Given the description of an element on the screen output the (x, y) to click on. 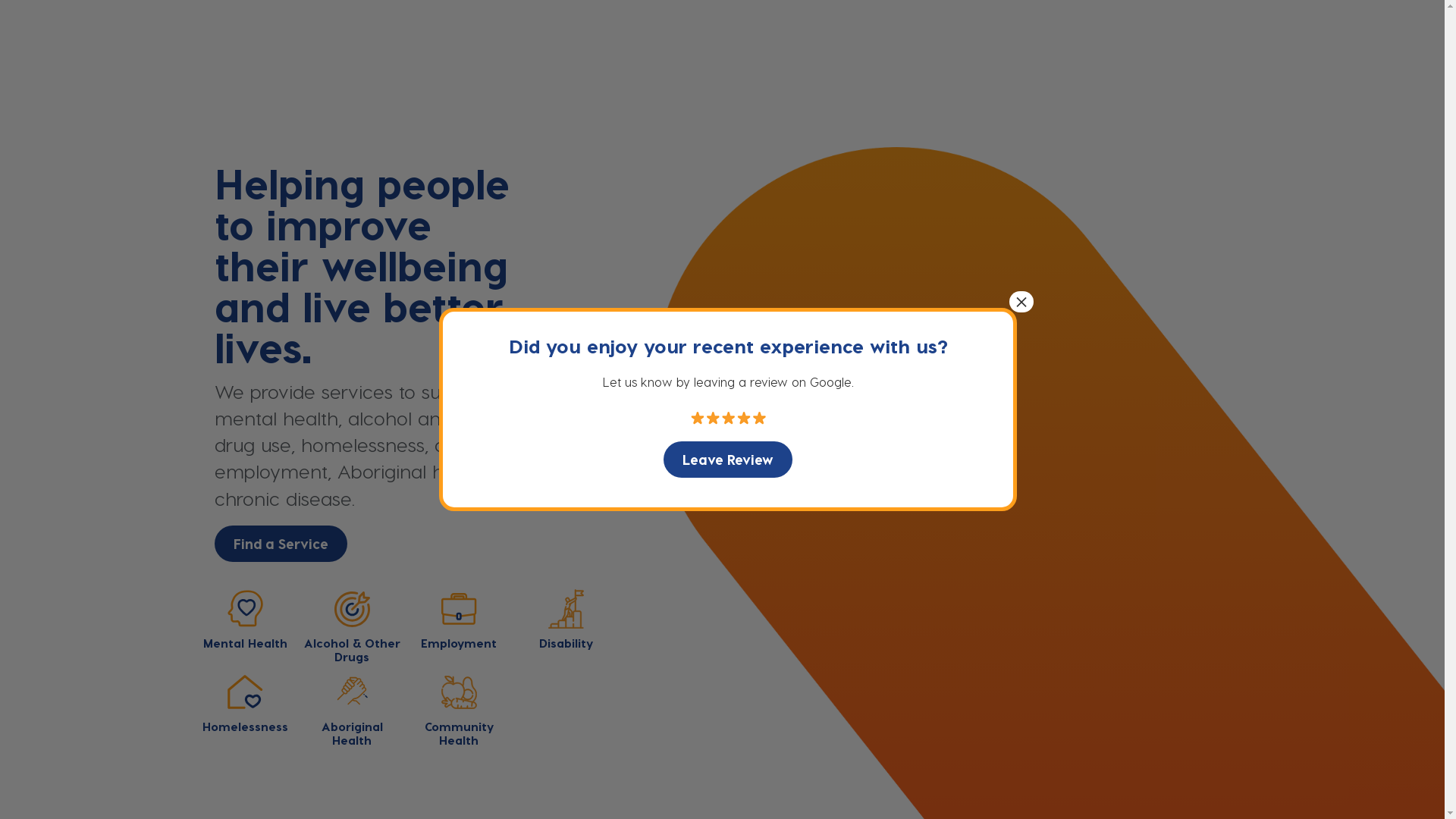
Homelessness Element type: text (244, 702)
Find a Service Element type: text (279, 543)
Mental Health Element type: text (244, 619)
Community Health Element type: text (458, 709)
Aboriginal Health Element type: text (351, 709)
Alcohol & Other Drugs Element type: text (351, 626)
Disability Element type: text (565, 619)
Employment Element type: text (458, 619)
Leave Review Element type: text (727, 459)
